Given the description of an element on the screen output the (x, y) to click on. 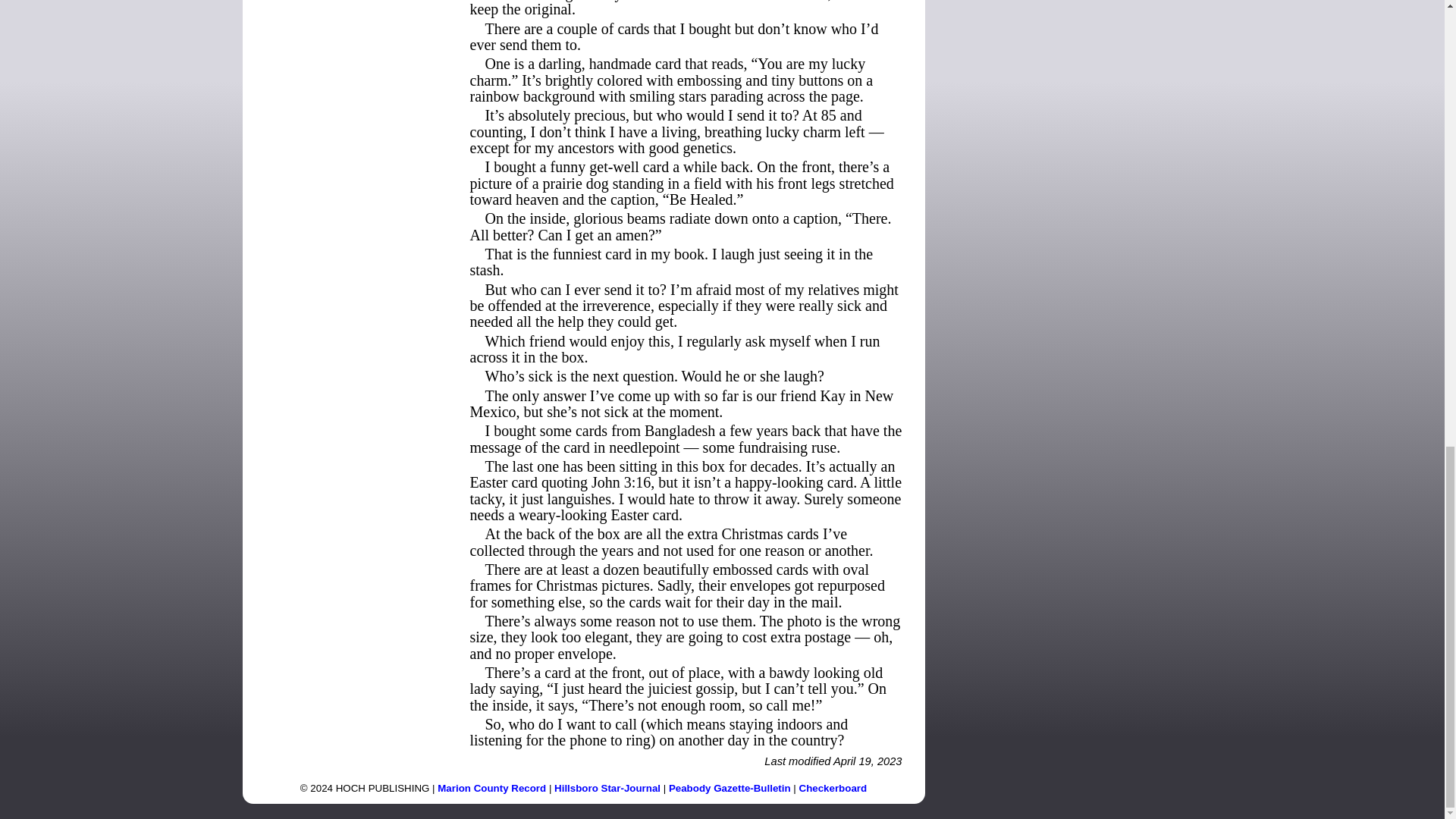
Checkerboard (833, 787)
Marion County Record (492, 787)
Peabody Gazette-Bulletin (729, 787)
Hillsboro Star-Journal (607, 787)
